Given the description of an element on the screen output the (x, y) to click on. 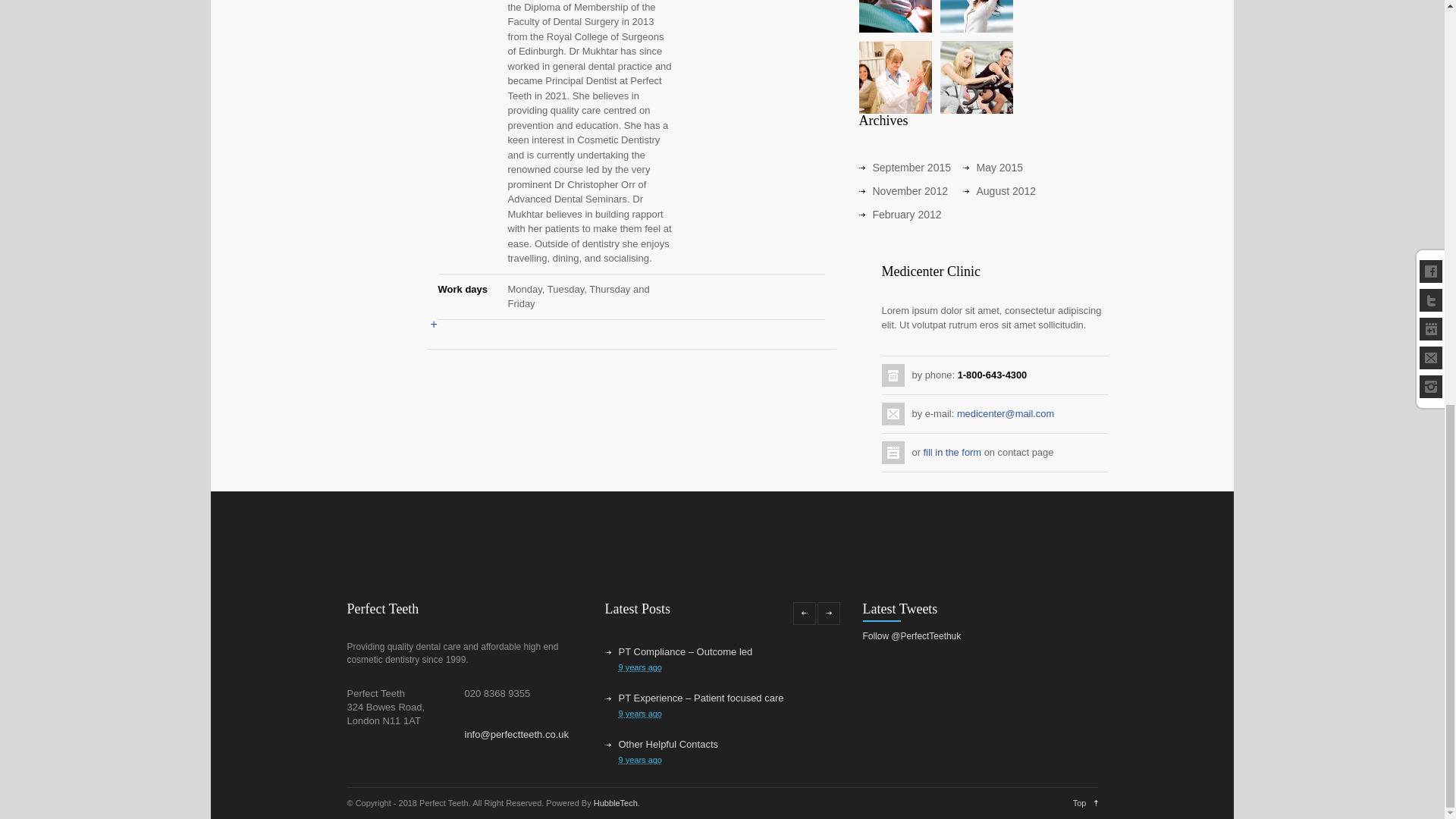
Contact form (952, 451)
